Given the description of an element on the screen output the (x, y) to click on. 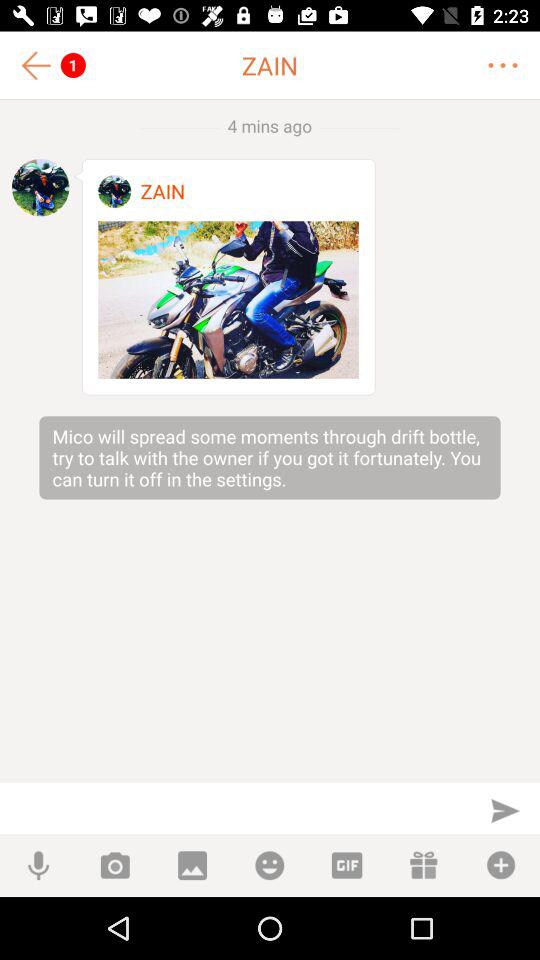
to send button (505, 810)
